Given the description of an element on the screen output the (x, y) to click on. 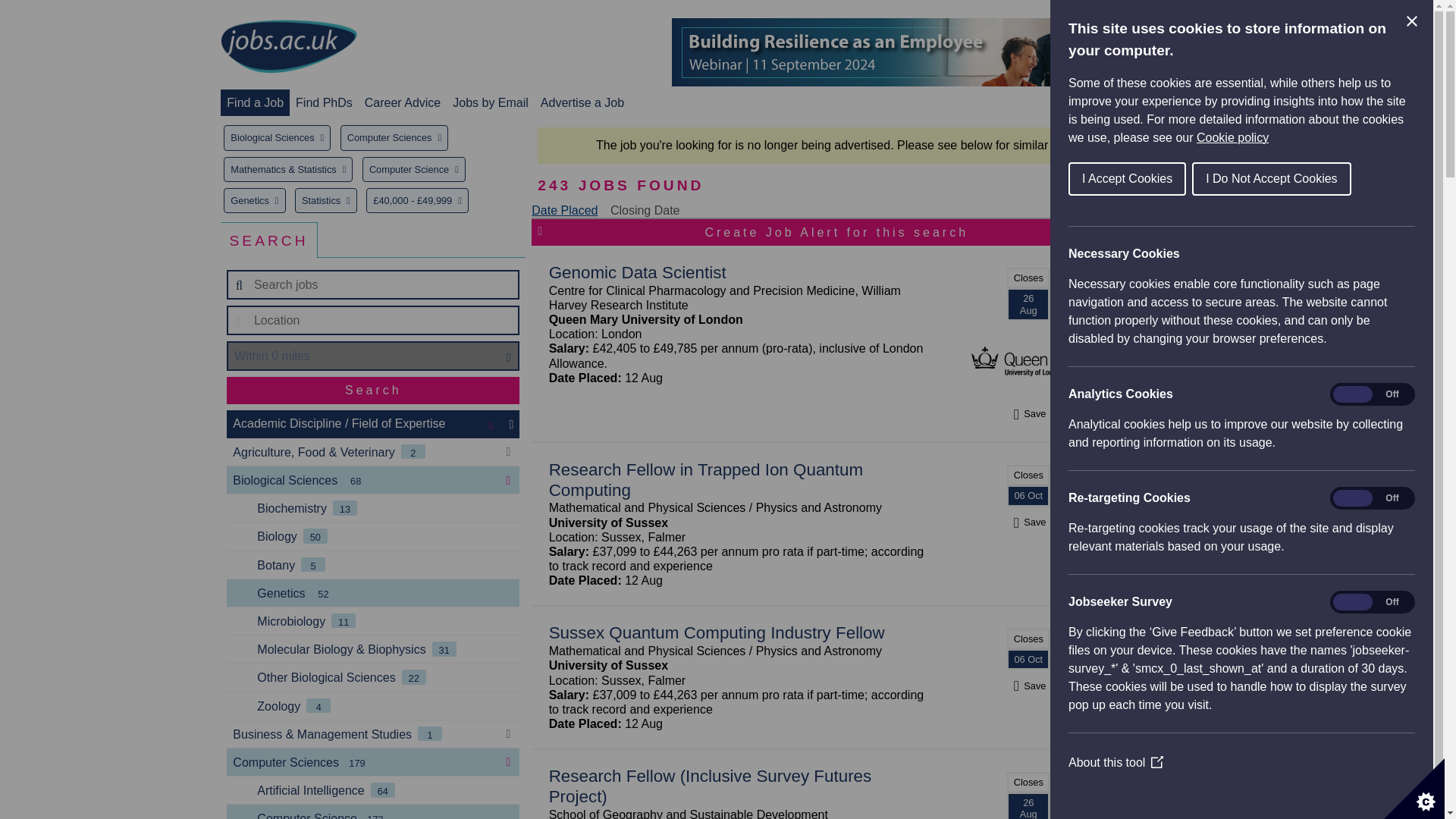
Save job (1027, 521)
home page (288, 47)
Create Job Alert for this search (836, 232)
jobs.ac.uk - Great jobs for bright people (288, 45)
Search (373, 389)
Save job (1027, 413)
Create Job Alert for this search (836, 232)
Building Resilience as an Employee (947, 52)
Your Account (1106, 102)
I Accept Cookies (1359, 178)
